Given the description of an element on the screen output the (x, y) to click on. 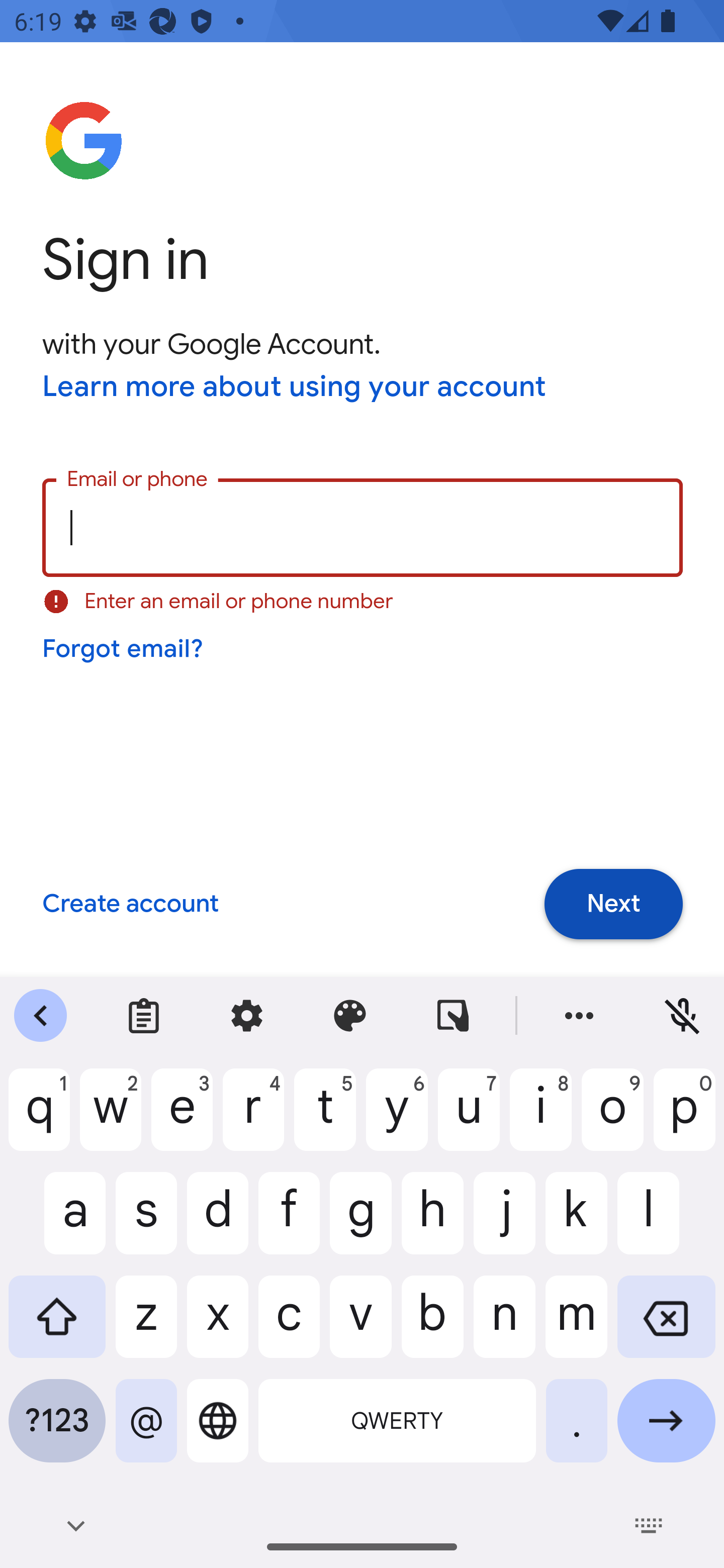
Learn more about using your account (294, 388)
Forgot email? (123, 648)
Create account (129, 904)
Next (613, 904)
